Given the description of an element on the screen output the (x, y) to click on. 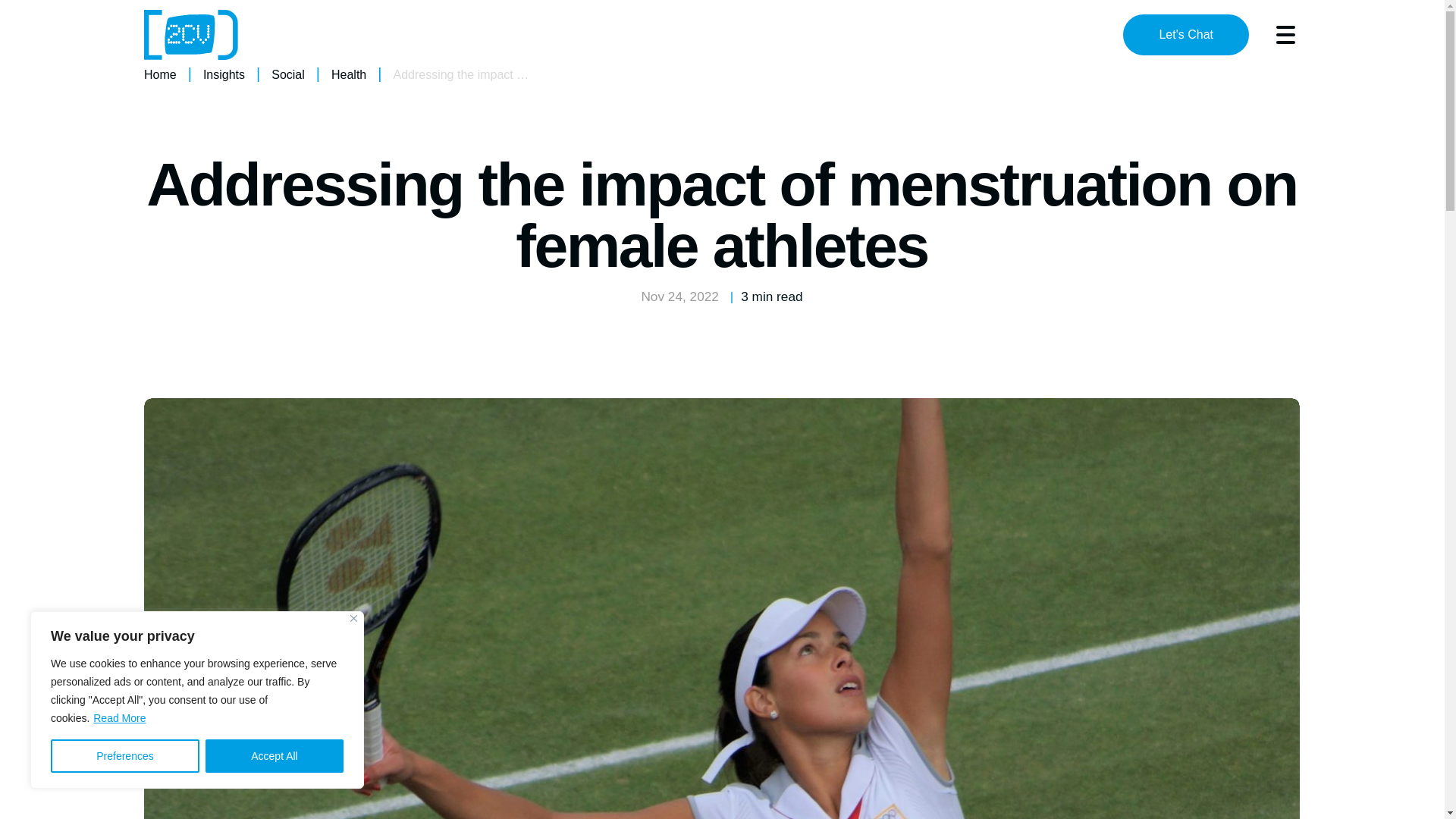
Insights (223, 74)
Addressing the impact of menstruation on female athletes (547, 74)
Preferences (124, 756)
Health (348, 74)
Accept All (274, 756)
Social (287, 74)
2CV (191, 34)
Insights (223, 74)
Social (287, 74)
Read More (120, 717)
Home (160, 74)
Home (160, 74)
Let's Chat (1185, 34)
Health (348, 74)
